Given the description of an element on the screen output the (x, y) to click on. 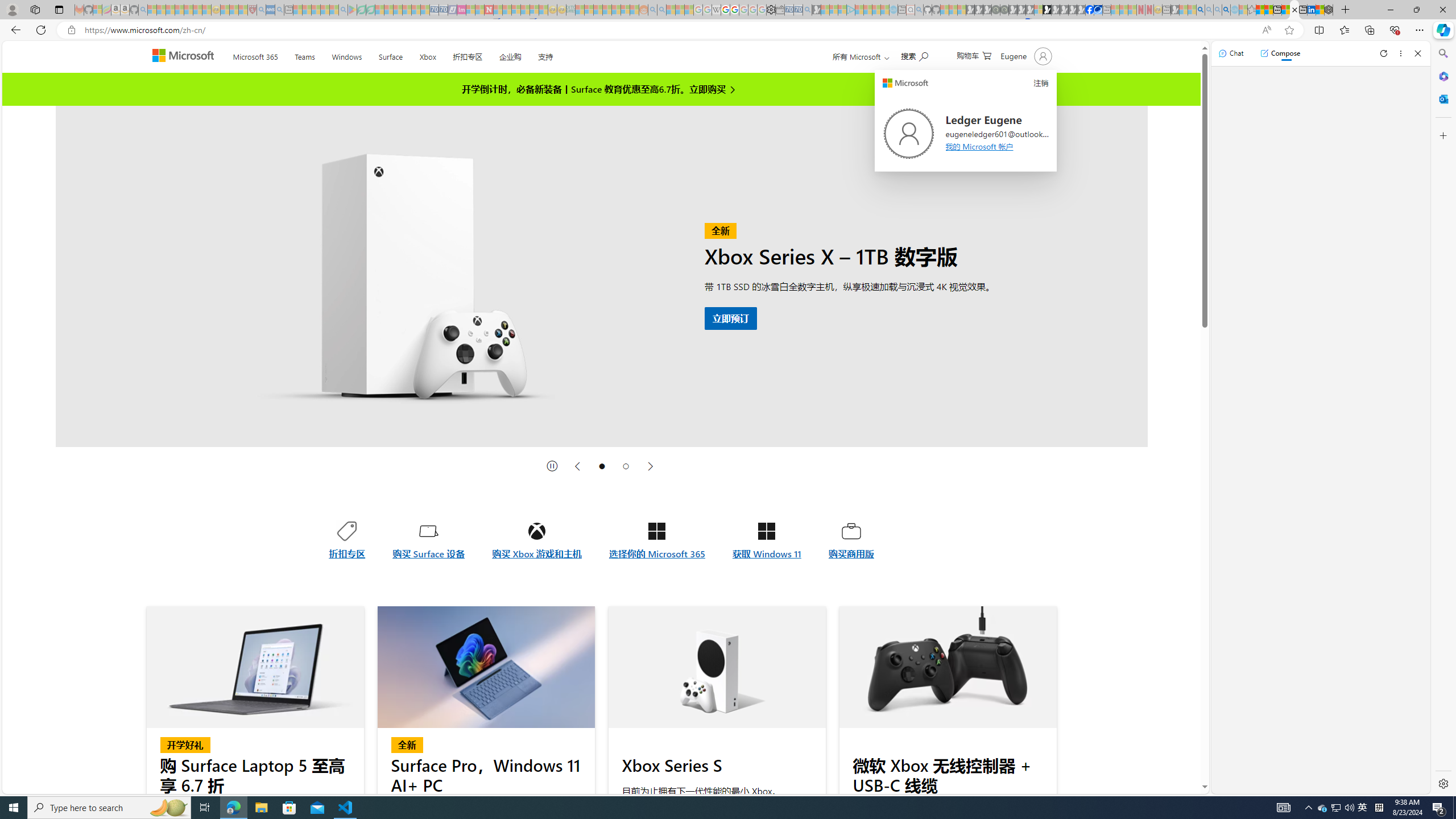
Robert H. Shmerling, MD - Harvard Health - Sleeping (252, 9)
Local - MSN - Sleeping (242, 9)
Microsoft 365 (255, 54)
Privacy Help Center - Policies Help (725, 9)
Microsoft (184, 56)
